Given the description of an element on the screen output the (x, y) to click on. 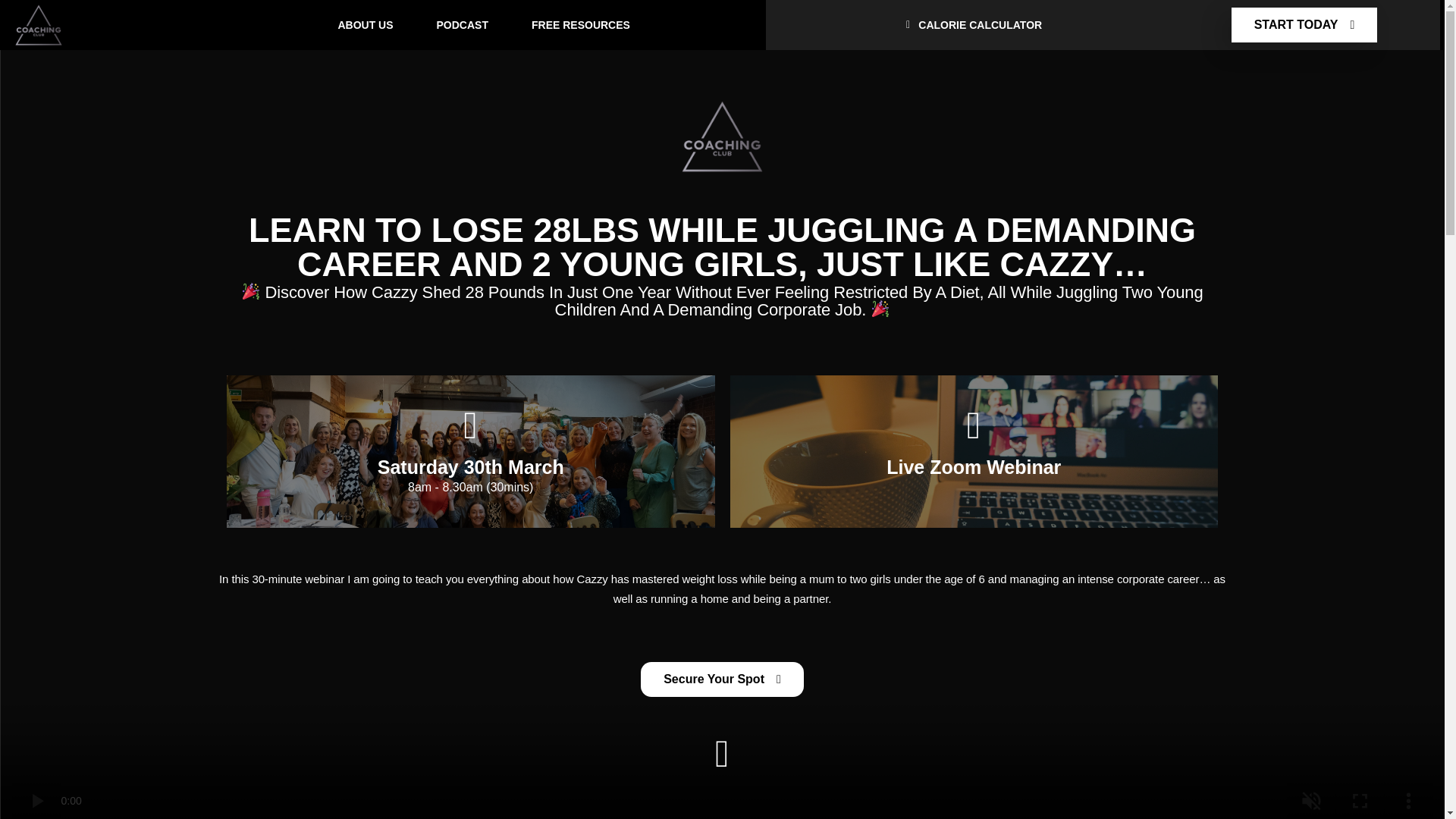
Secure Your Spot (721, 678)
ABOUT US (365, 24)
FREE RESOURCES (580, 24)
PODCAST (461, 24)
START TODAY (1304, 24)
CALORIE CALCULATOR (971, 24)
